Given the description of an element on the screen output the (x, y) to click on. 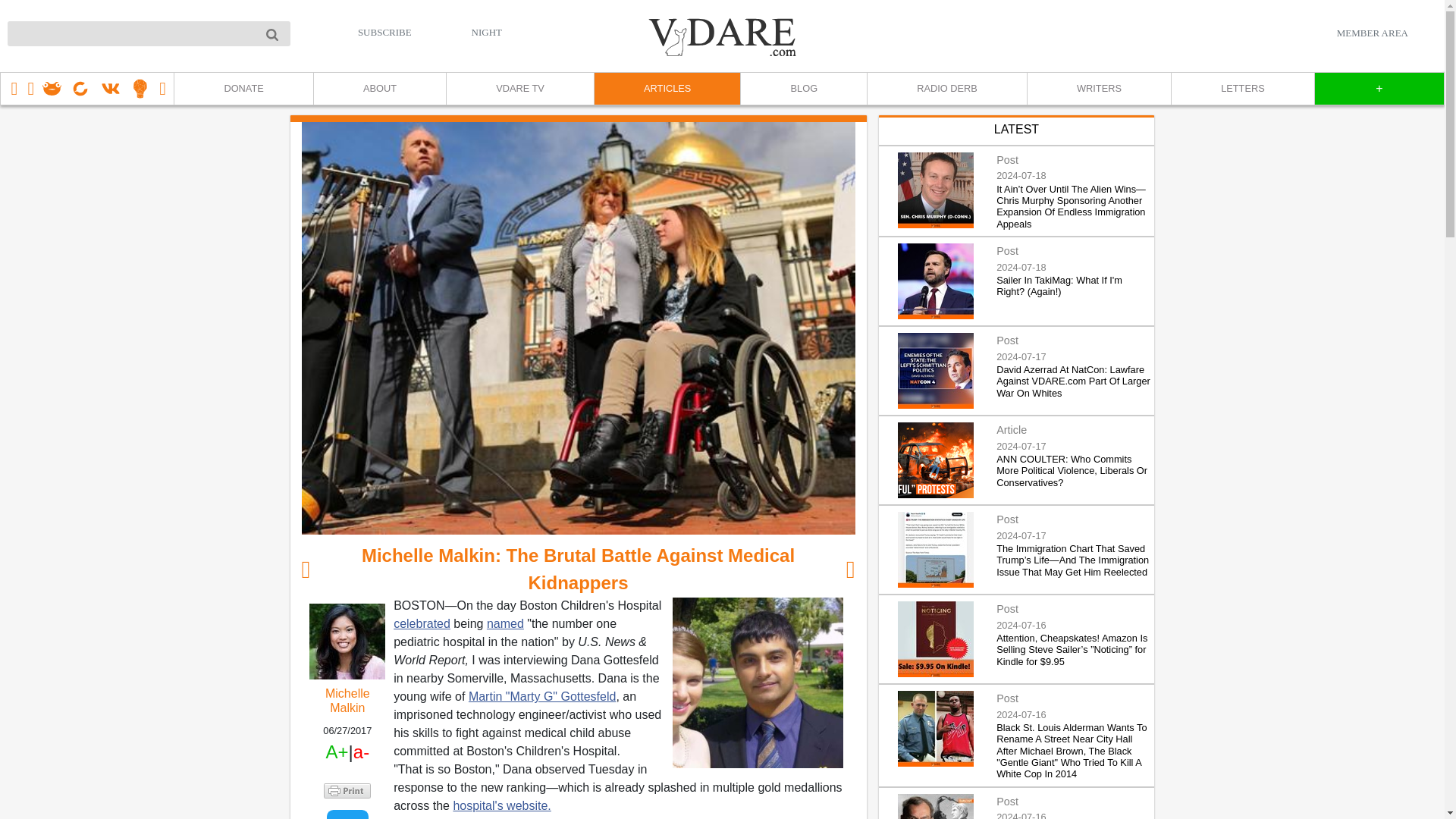
LETTERS (1242, 88)
MEMBER AREA (1371, 32)
BLOG (802, 88)
ARTICLES (666, 88)
Share to Twitter (347, 814)
RADIO DERB (946, 88)
WRITERS (1098, 88)
ABOUT (379, 88)
Printer Friendly and PDF (347, 789)
VDARE TV (519, 88)
DONATE (243, 88)
SUBSCRIBE (385, 31)
